Given the description of an element on the screen output the (x, y) to click on. 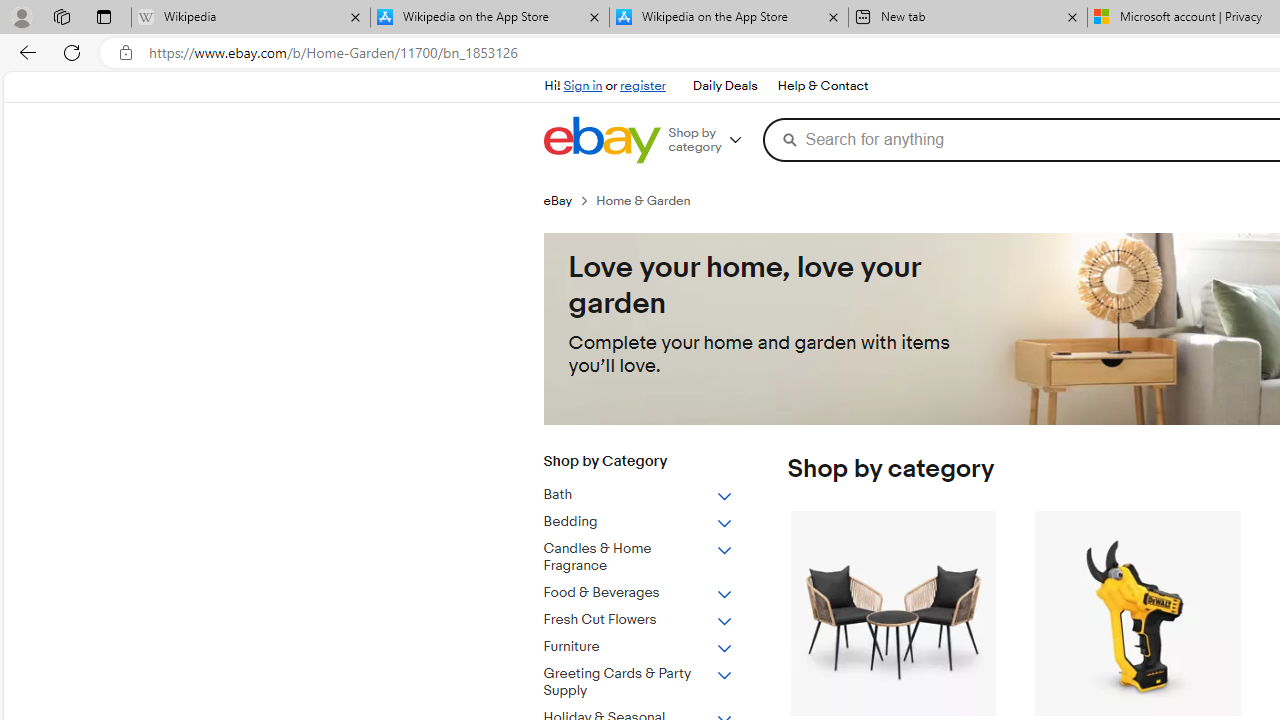
eBay (557, 200)
Bath (637, 495)
Shop by category (711, 140)
Help & Contact (821, 85)
Greeting Cards & Party Supply (653, 678)
Sign in (582, 85)
Furniture (653, 643)
eBay Home (601, 139)
Bath (653, 491)
Food & Beverages (637, 593)
Help & Contact (822, 86)
eBay Home (601, 139)
Home & Garden (651, 200)
Daily Deals (724, 85)
Wikipedia - Sleeping (250, 17)
